Given the description of an element on the screen output the (x, y) to click on. 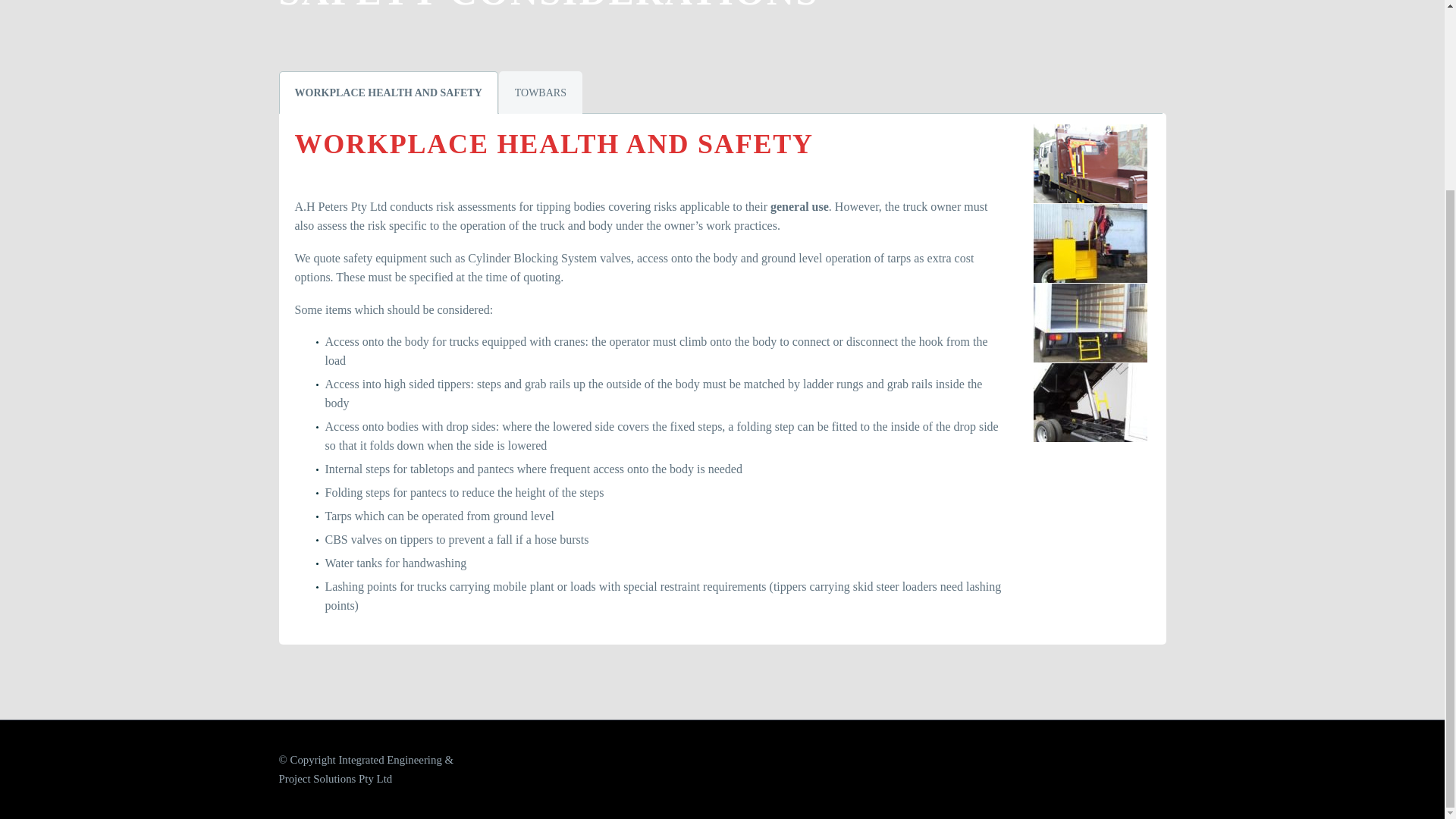
WORKPLACE HEALTH AND SAFETY (388, 92)
TOWBARS (540, 92)
